Given the description of an element on the screen output the (x, y) to click on. 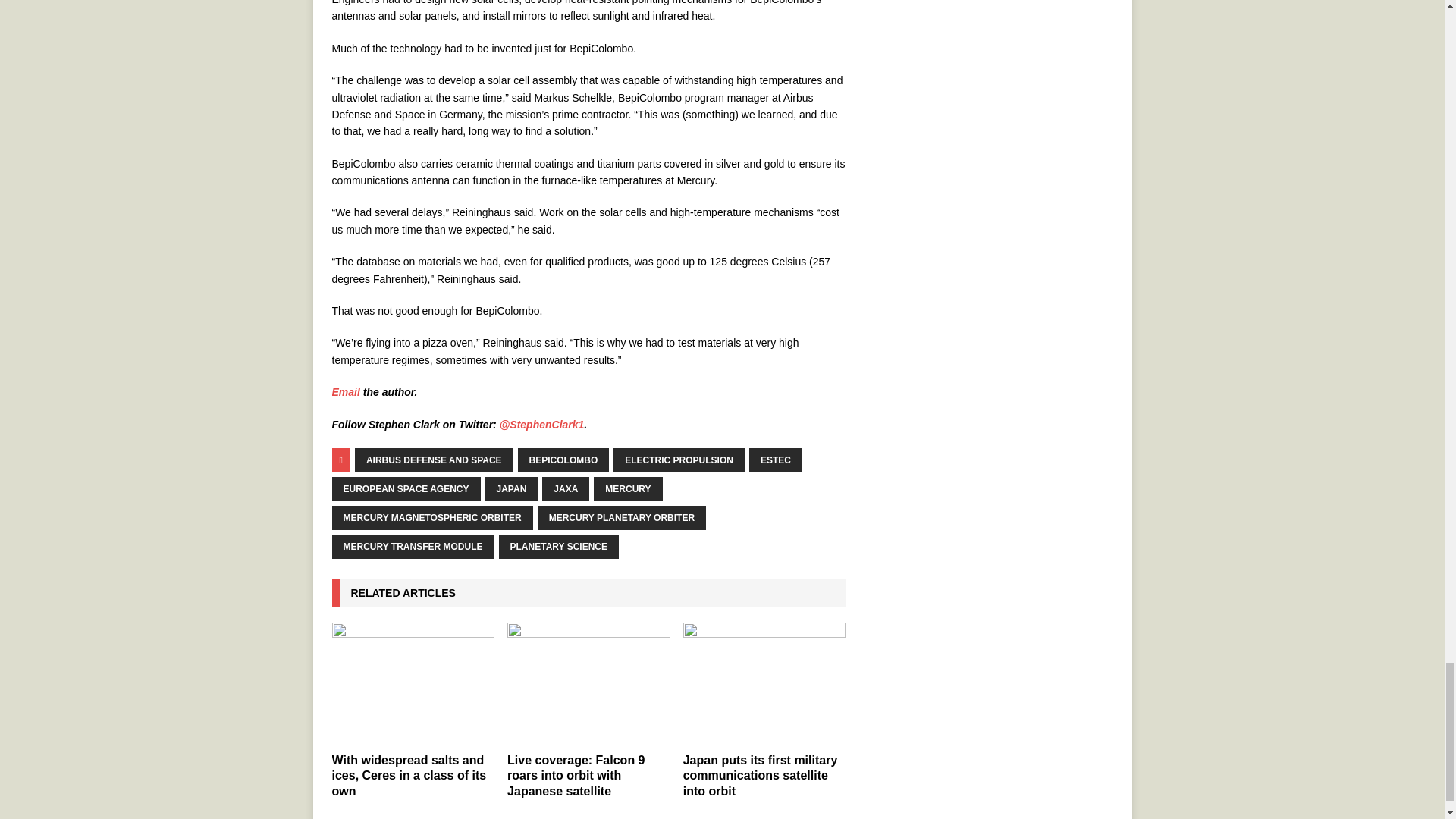
EUROPEAN SPACE AGENCY (405, 488)
Email (345, 391)
AIRBUS DEFENSE AND SPACE (434, 459)
ESTEC (775, 459)
JAPAN (511, 488)
With widespread salts and ices, Ceres in a class of its own (408, 774)
With widespread salts and ices, Ceres in a class of its own (413, 683)
ELECTRIC PROPULSION (678, 459)
BEPICOLOMBO (564, 459)
